Given the description of an element on the screen output the (x, y) to click on. 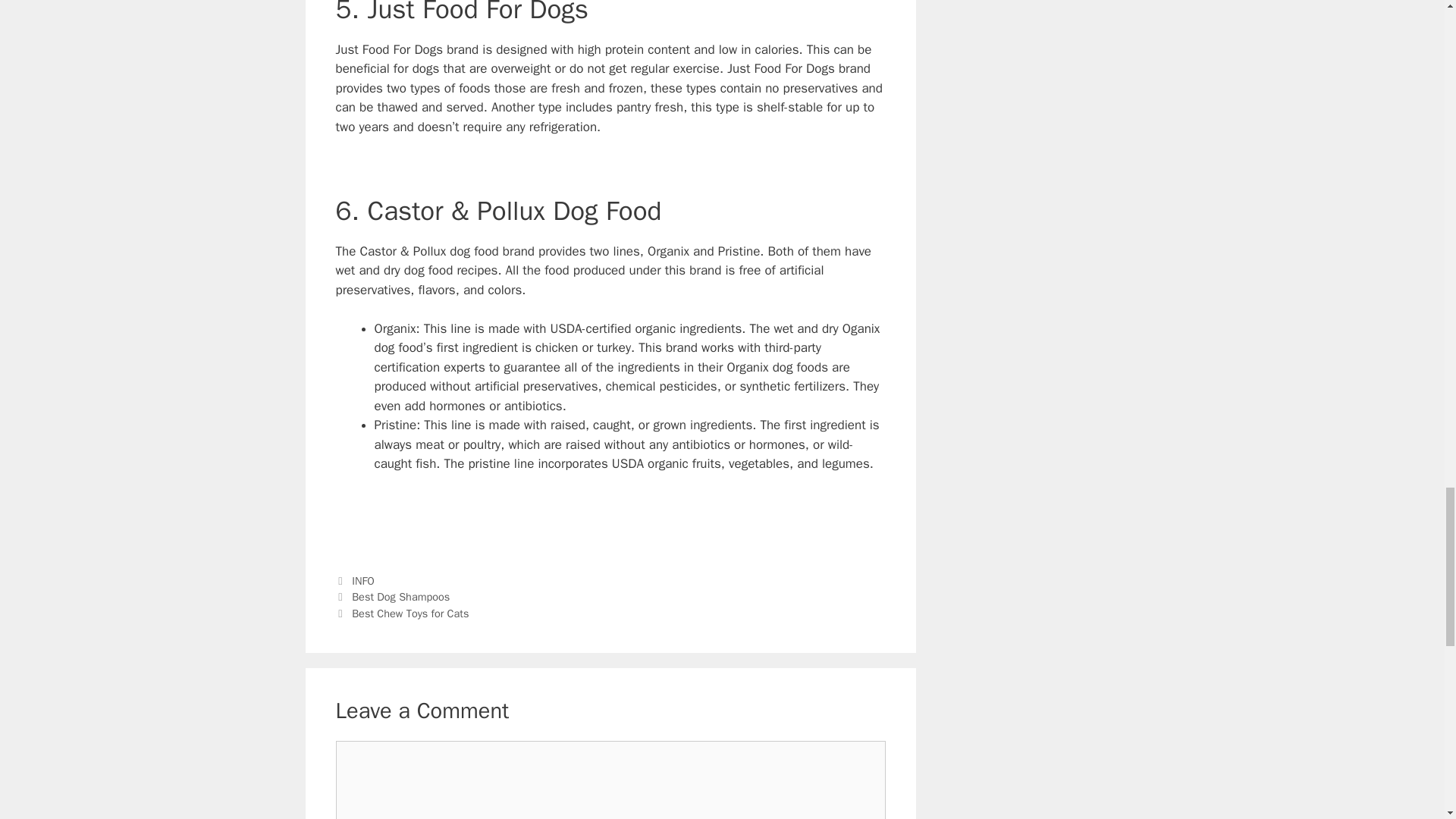
Best Dog Shampoos (400, 596)
Best Chew Toys for Cats (410, 612)
INFO (363, 581)
